Given the description of an element on the screen output the (x, y) to click on. 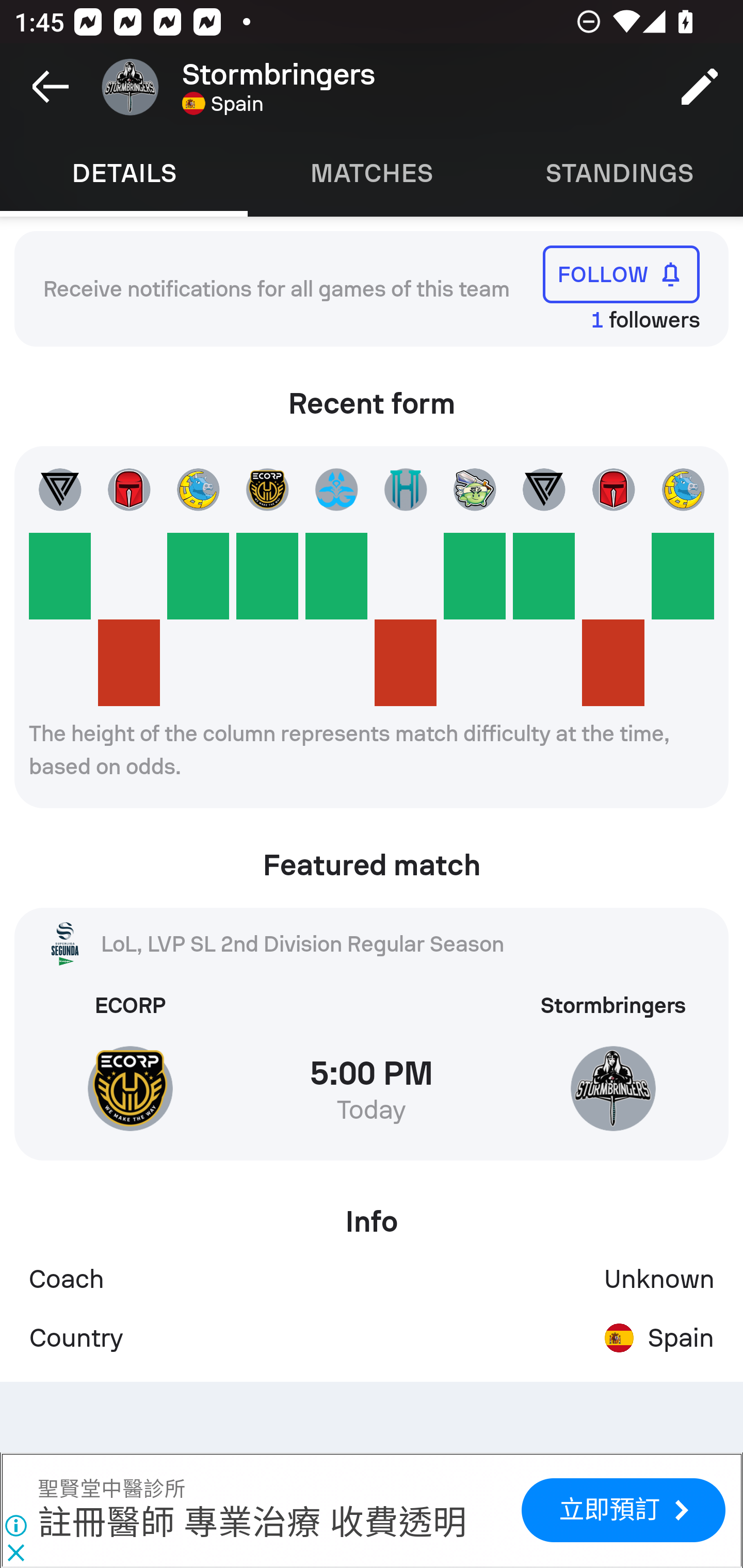
Navigate up (50, 86)
Edit (699, 86)
Matches MATCHES (371, 173)
Standings STANDINGS (619, 173)
FOLLOW (621, 274)
聖賢堂中醫診所 (111, 1489)
立即預訂 (623, 1510)
註冊醫師 專業治療 收費透明 (252, 1523)
